Given the description of an element on the screen output the (x, y) to click on. 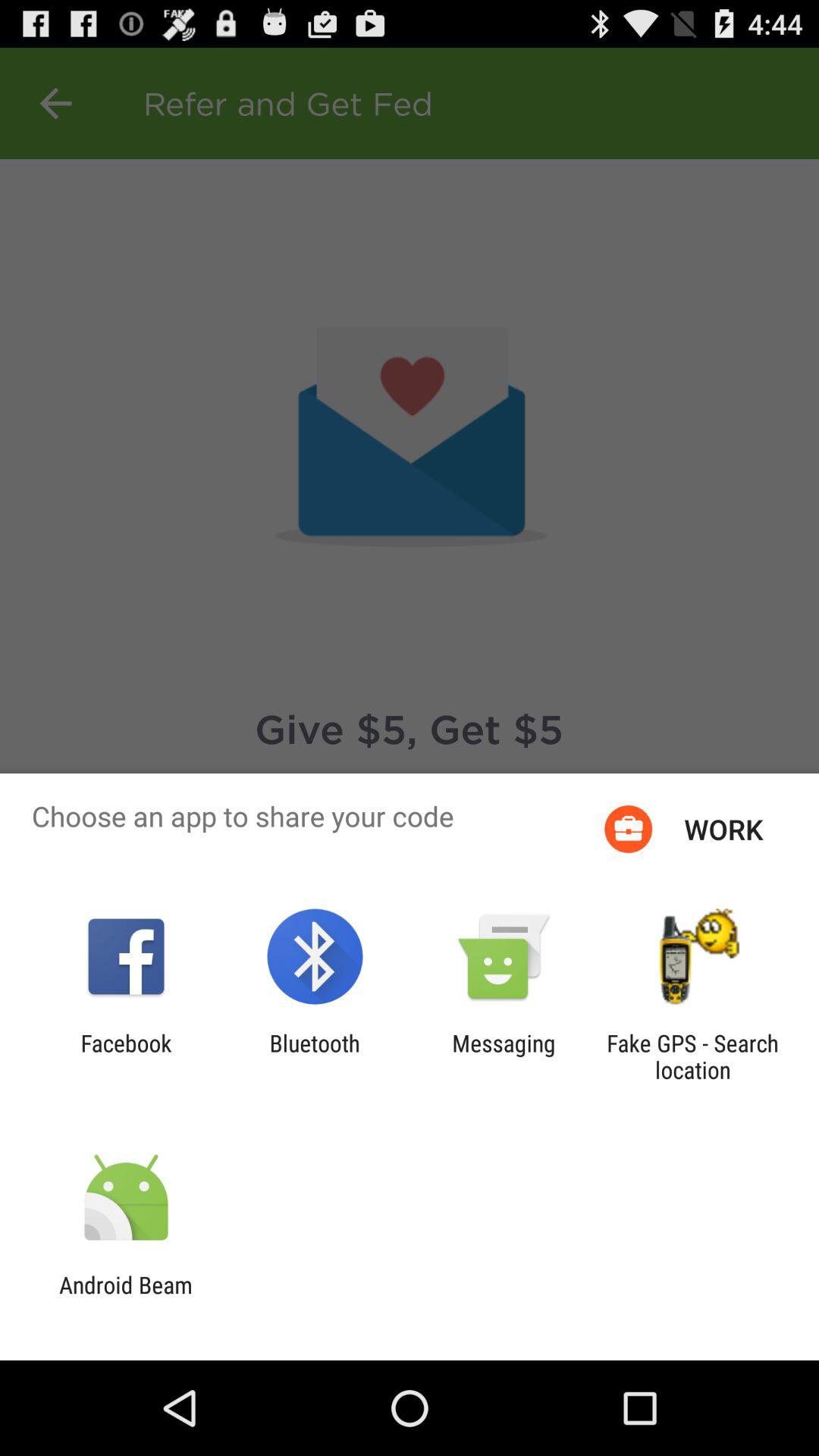
open app next to facebook (314, 1056)
